Given the description of an element on the screen output the (x, y) to click on. 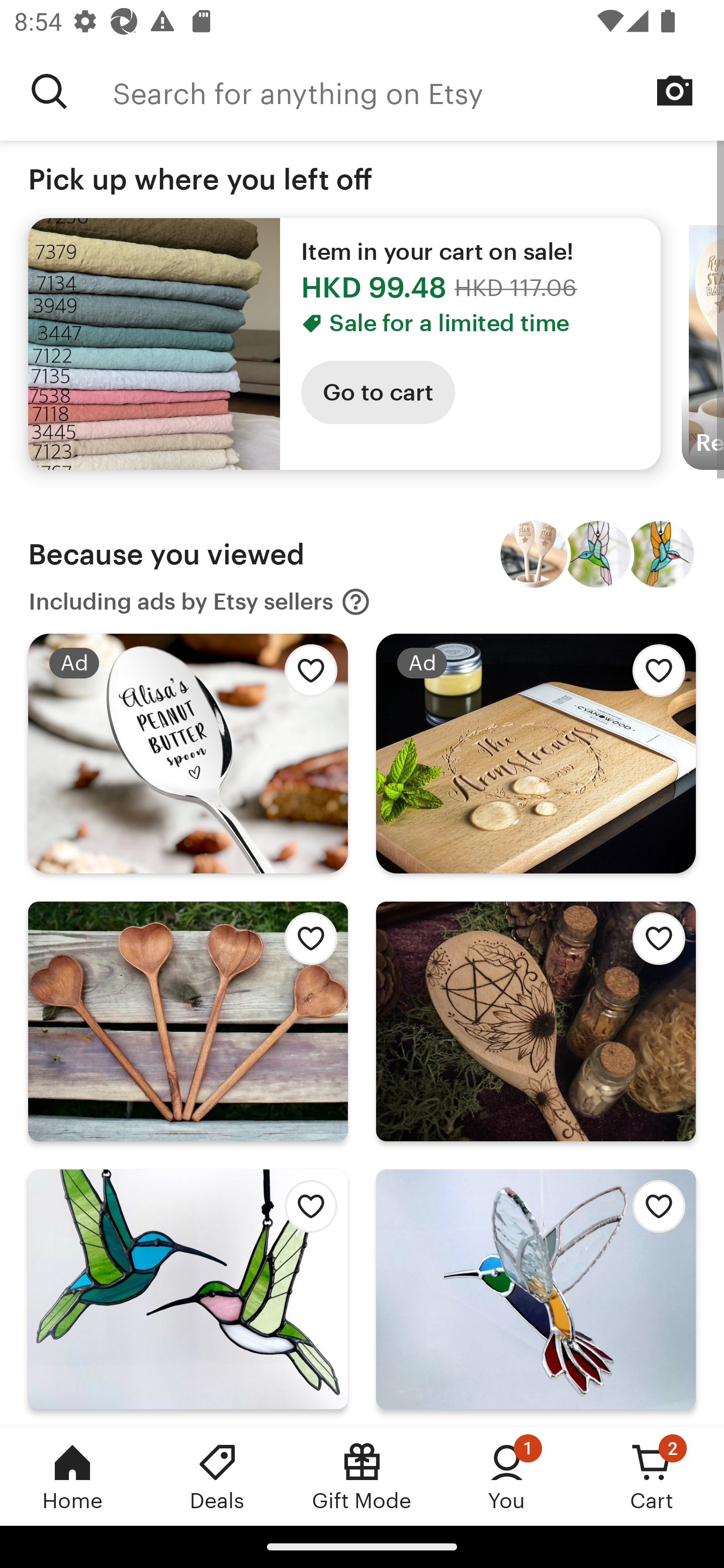
Search for anything on Etsy (49, 91)
Search by image (674, 90)
Search for anything on Etsy (418, 91)
Including ads by Etsy sellers (199, 601)
Deals (216, 1475)
Gift Mode (361, 1475)
You, 1 new notification You (506, 1475)
Cart, 2 new notifications Cart (651, 1475)
